Given the description of an element on the screen output the (x, y) to click on. 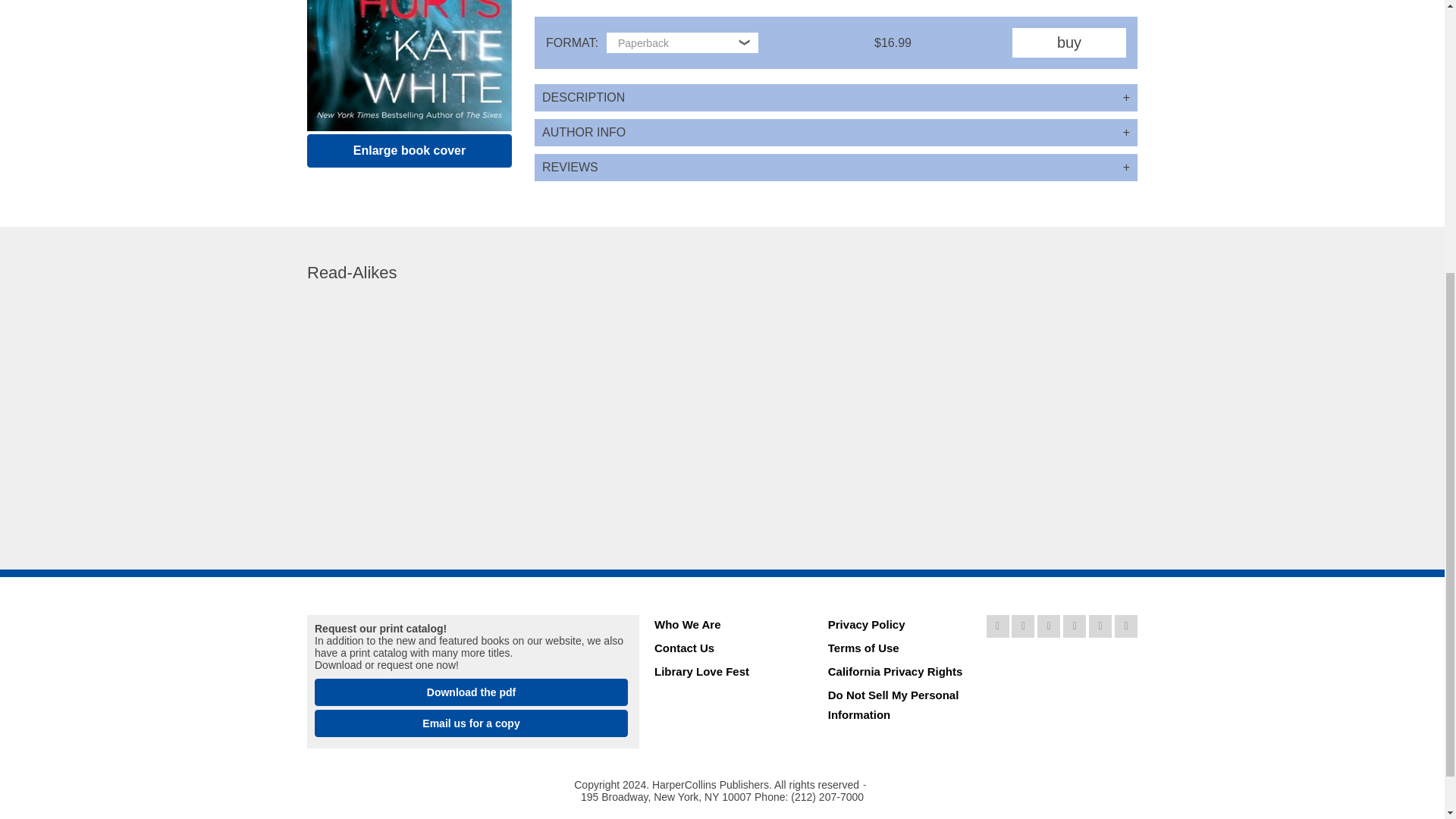
Do Not Sell My Personal Information (899, 706)
buy (1068, 42)
Download the pdf (470, 691)
Email us for a copy (470, 723)
Library Love Fest (725, 673)
Enlarge book cover (409, 150)
Buy the book on hc.com (1068, 42)
Terms of Use (899, 649)
Who We Are (725, 626)
HarperLibraryBookClubCatalog (470, 691)
